Given the description of an element on the screen output the (x, y) to click on. 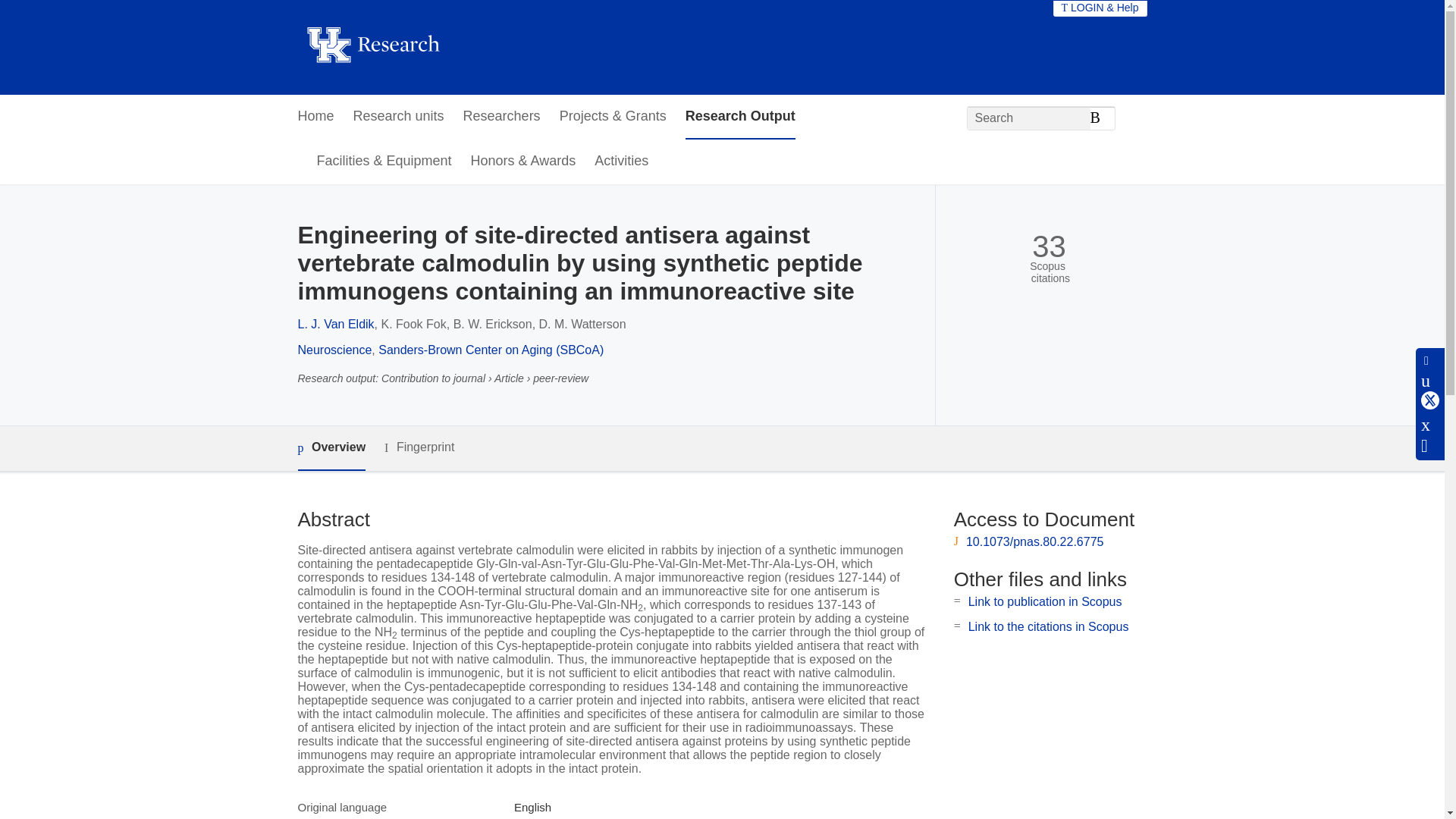
Activities (620, 161)
Research units (398, 117)
Link to publication in Scopus (1045, 601)
Researchers (501, 117)
Link to the citations in Scopus (1048, 626)
Overview (331, 447)
Research Output (739, 117)
Neuroscience (334, 349)
University of Kentucky Home (372, 47)
